Given the description of an element on the screen output the (x, y) to click on. 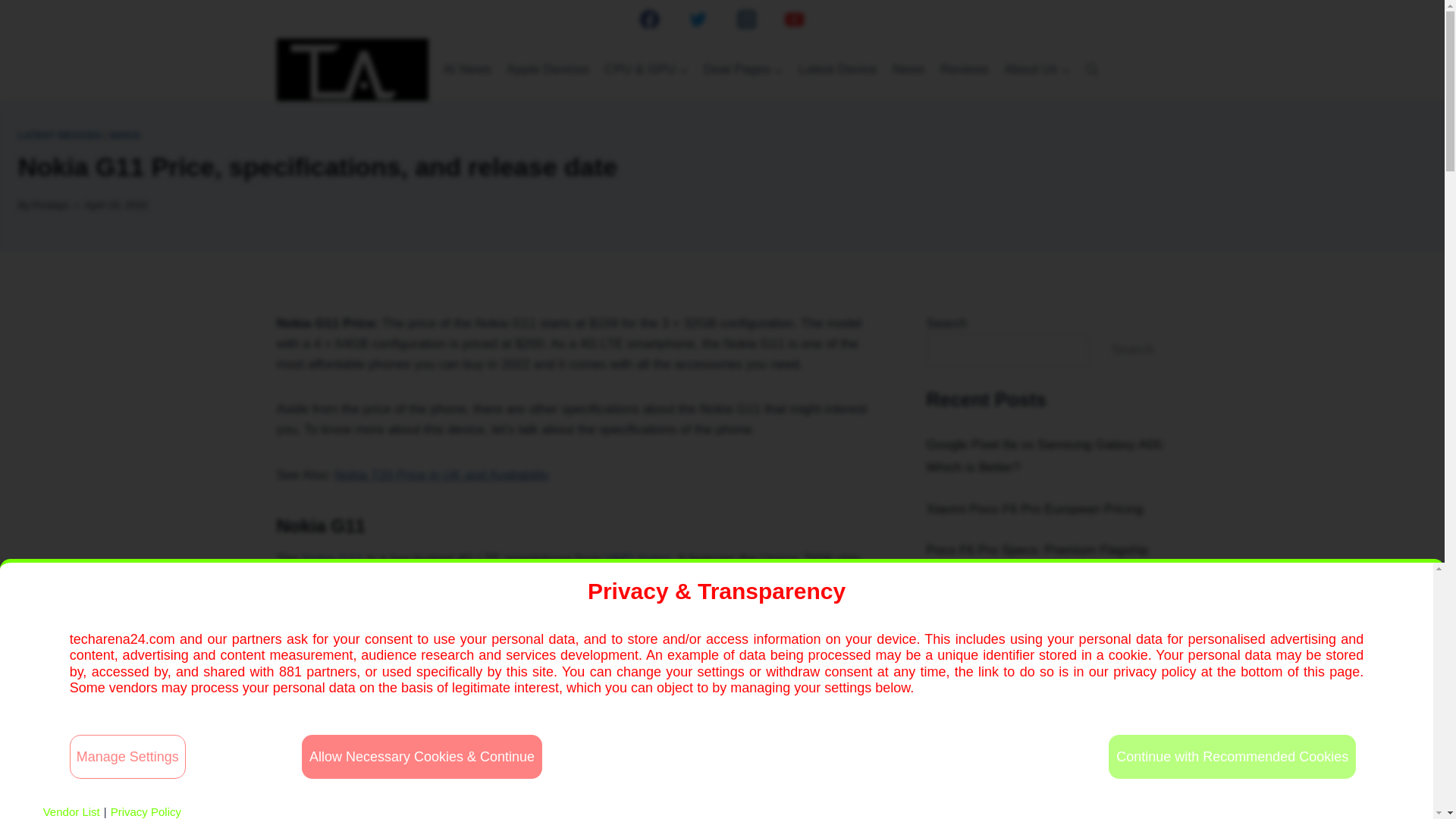
About Us (1036, 69)
Nokia G11 (332, 559)
Nokia T20 Price in UK and Availability (442, 474)
NOKIA (125, 135)
Reviews (965, 69)
Apple Devices (547, 69)
LATEST DEVICES (58, 135)
Deal Pages (742, 69)
AI News (467, 69)
Latest Device (836, 69)
Firstayo (50, 204)
News (909, 69)
